Given the description of an element on the screen output the (x, y) to click on. 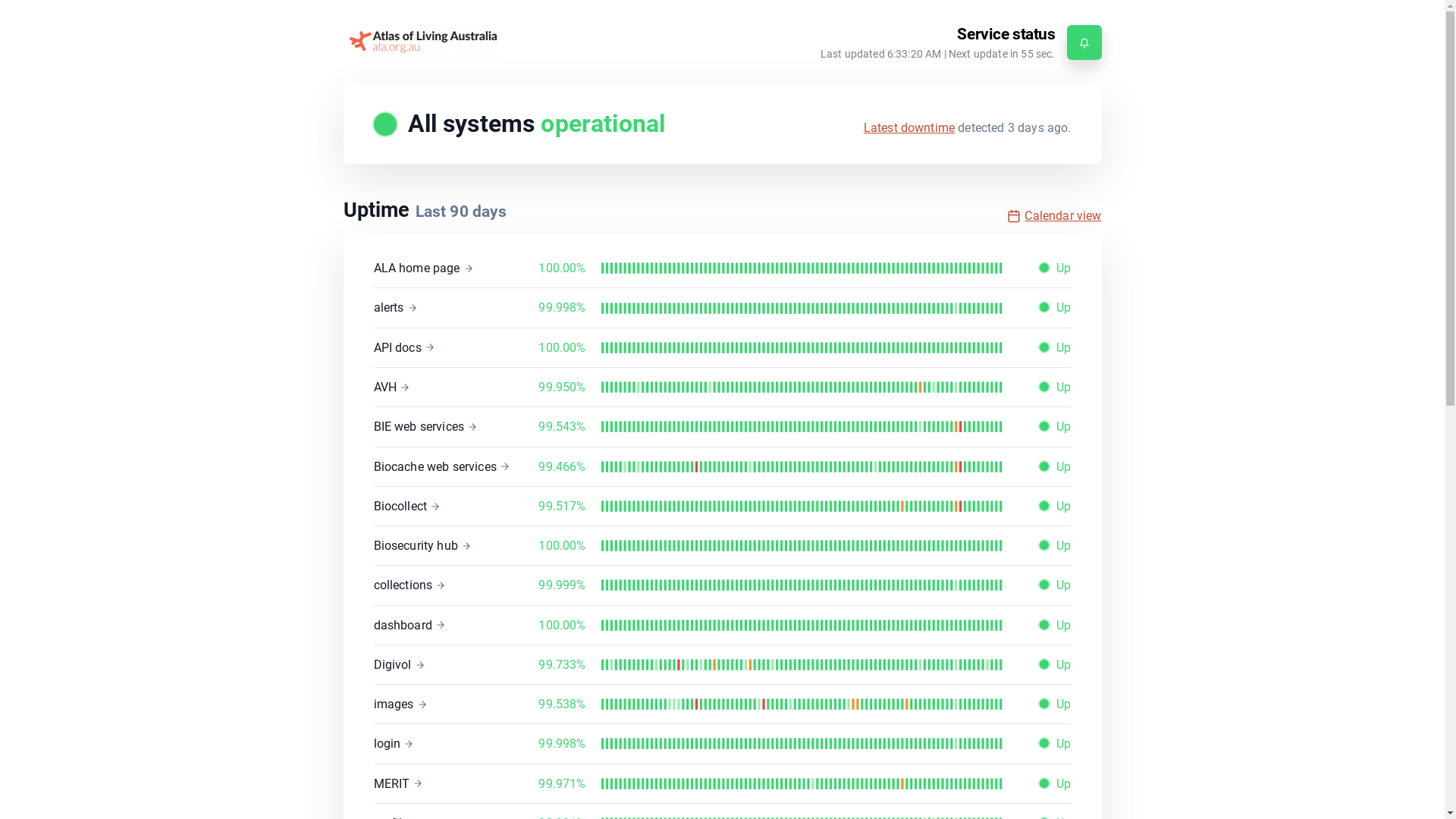
BIE web services Element type: text (425, 426)
MERIT Element type: text (398, 783)
AVH Element type: text (391, 387)
Calendar view Element type: text (1054, 215)
Biosecurity hub Element type: text (422, 545)
Biocache web services Element type: text (441, 465)
Digivol Element type: text (398, 664)
Biocollect Element type: text (406, 506)
ALA home page Element type: text (423, 268)
API docs Element type: text (403, 347)
images Element type: text (399, 704)
alerts Element type: text (395, 307)
Latest downtime Element type: text (908, 127)
login Element type: text (393, 743)
collections Element type: text (409, 585)
dashboard Element type: text (409, 625)
